Given the description of an element on the screen output the (x, y) to click on. 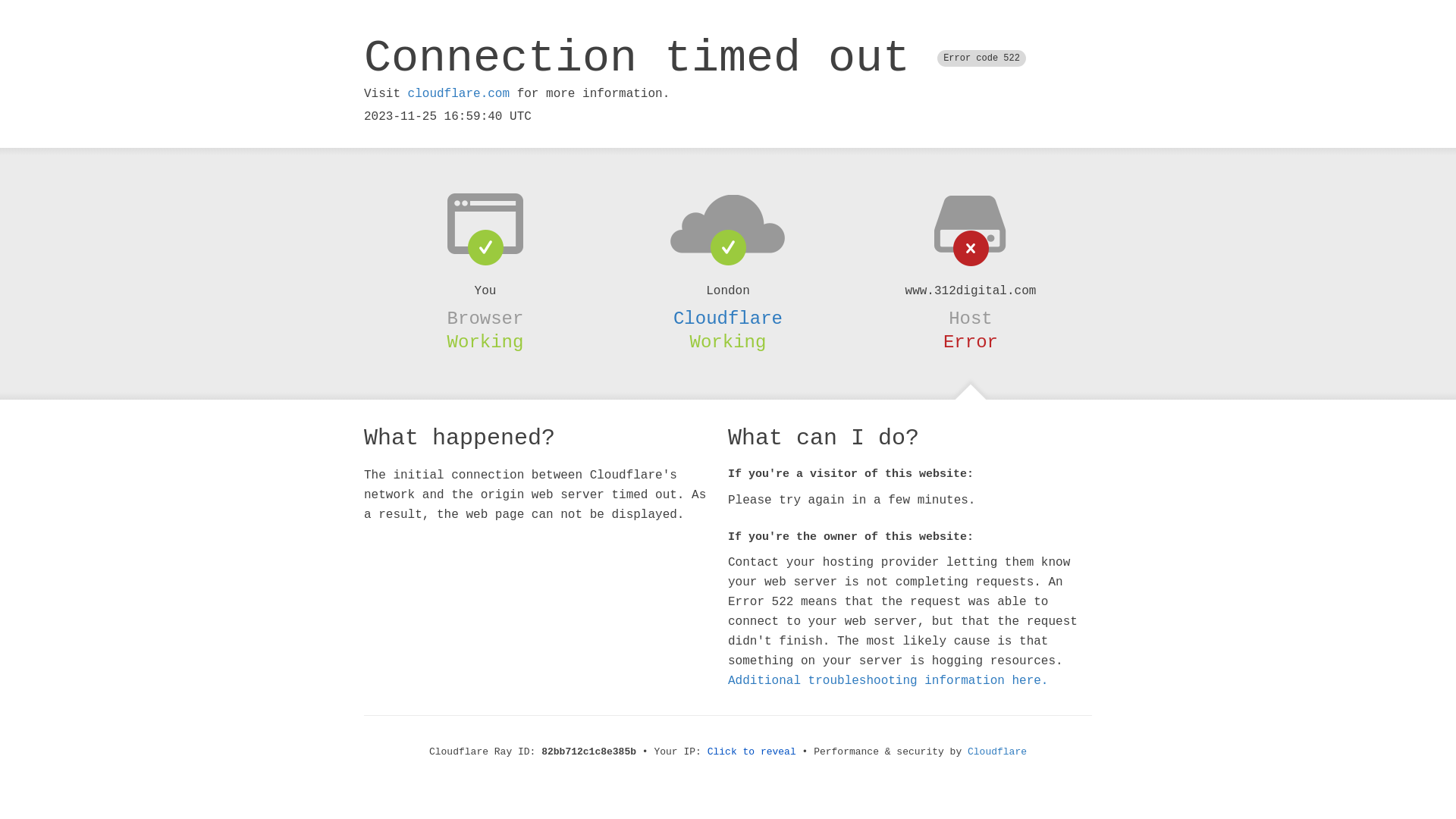
Cloudflare Element type: text (996, 751)
Click to reveal Element type: text (751, 751)
cloudflare.com Element type: text (458, 93)
Additional troubleshooting information here. Element type: text (888, 680)
Cloudflare Element type: text (727, 318)
